Given the description of an element on the screen output the (x, y) to click on. 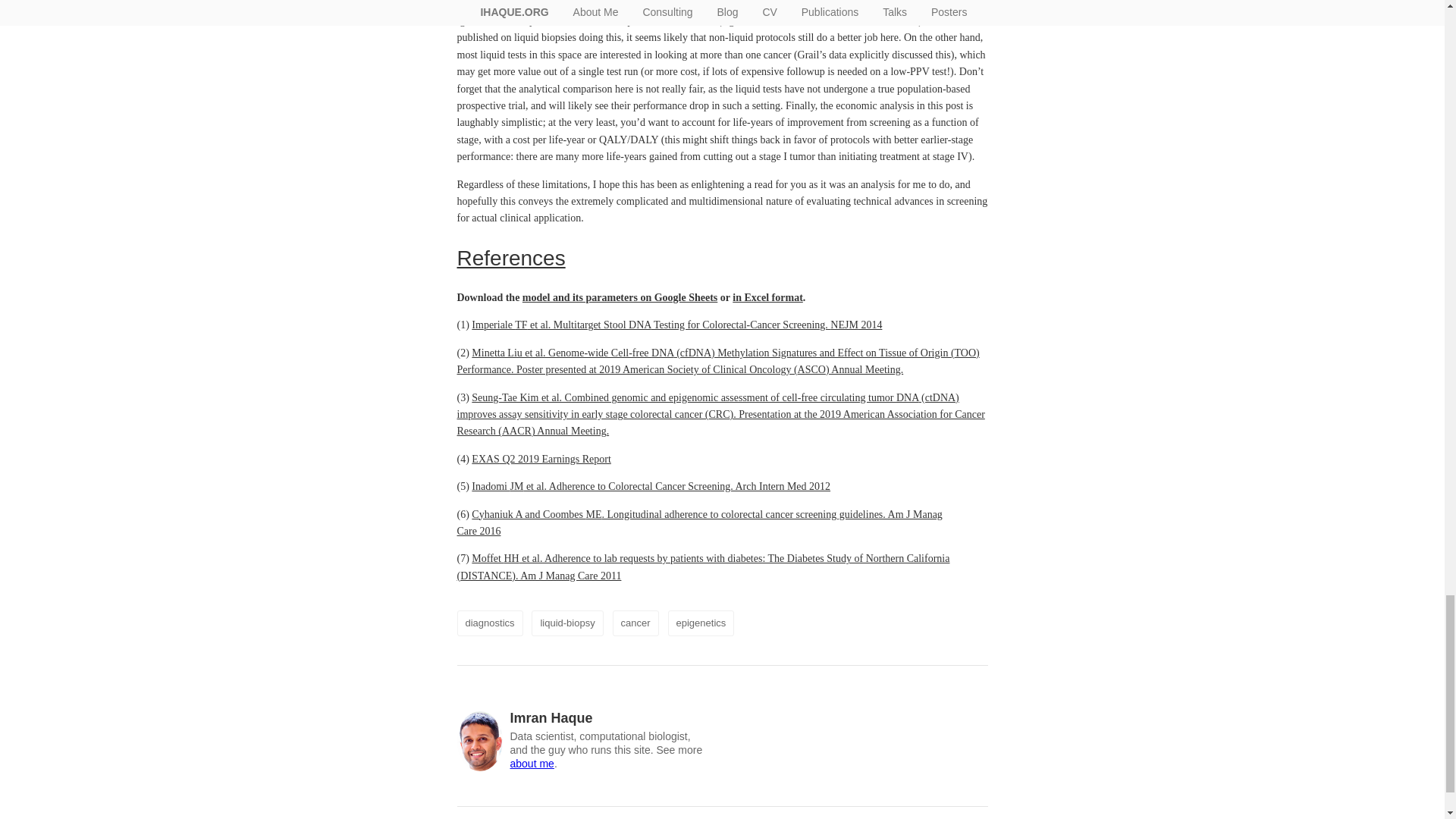
about me (531, 763)
Imran Haque (550, 717)
EXAS Q2 2019 Earnings Report (541, 459)
in Excel format (767, 297)
cancer (635, 623)
model and its parameters on Google Sheets (619, 297)
diagnostics (489, 623)
References (510, 258)
liquid-biopsy (566, 623)
epigenetics (701, 623)
